Given the description of an element on the screen output the (x, y) to click on. 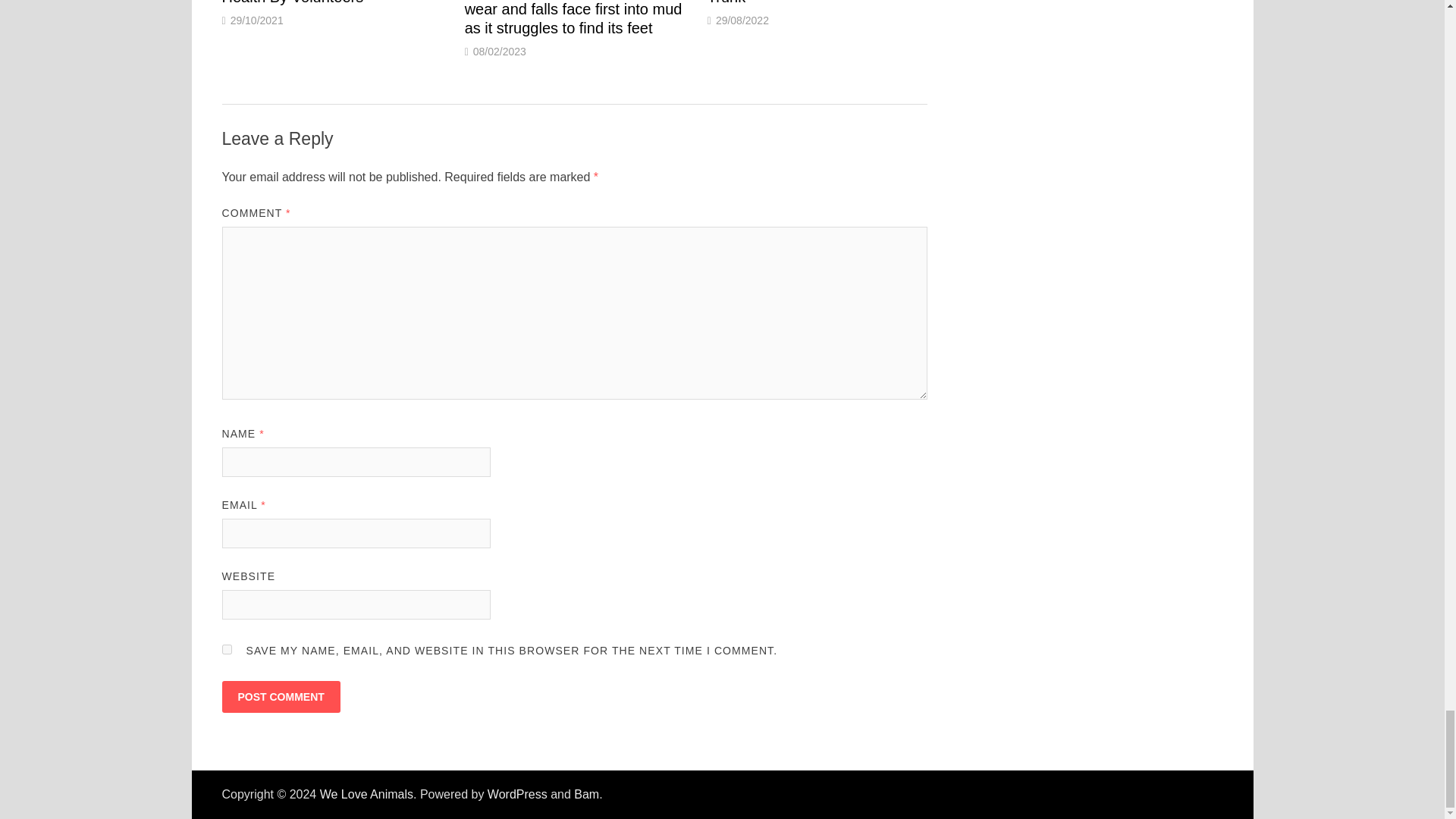
Post Comment (280, 696)
We Love Animals (366, 793)
yes (226, 649)
